Given the description of an element on the screen output the (x, y) to click on. 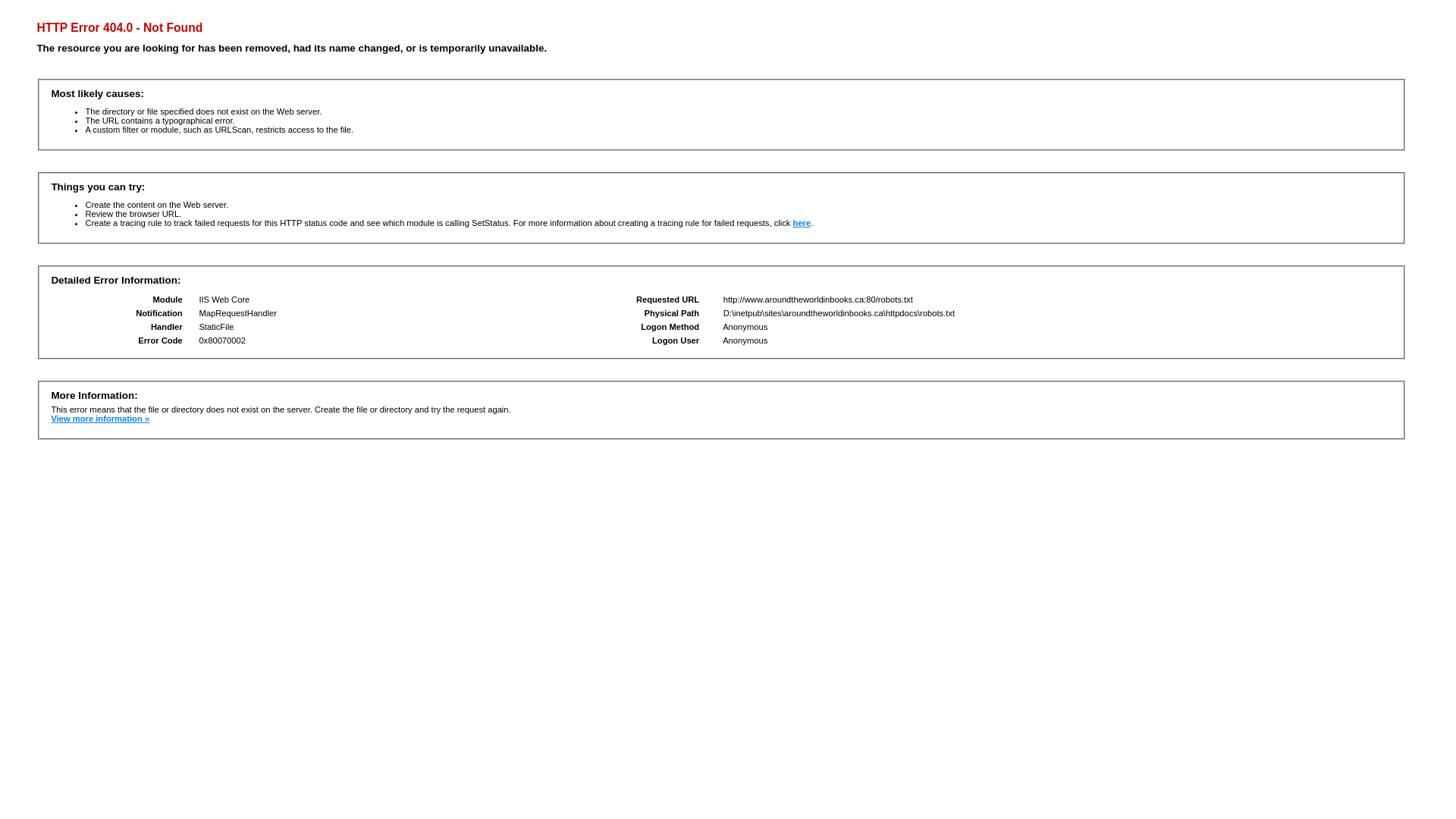
here Element type: text (802, 222)
